Given the description of an element on the screen output the (x, y) to click on. 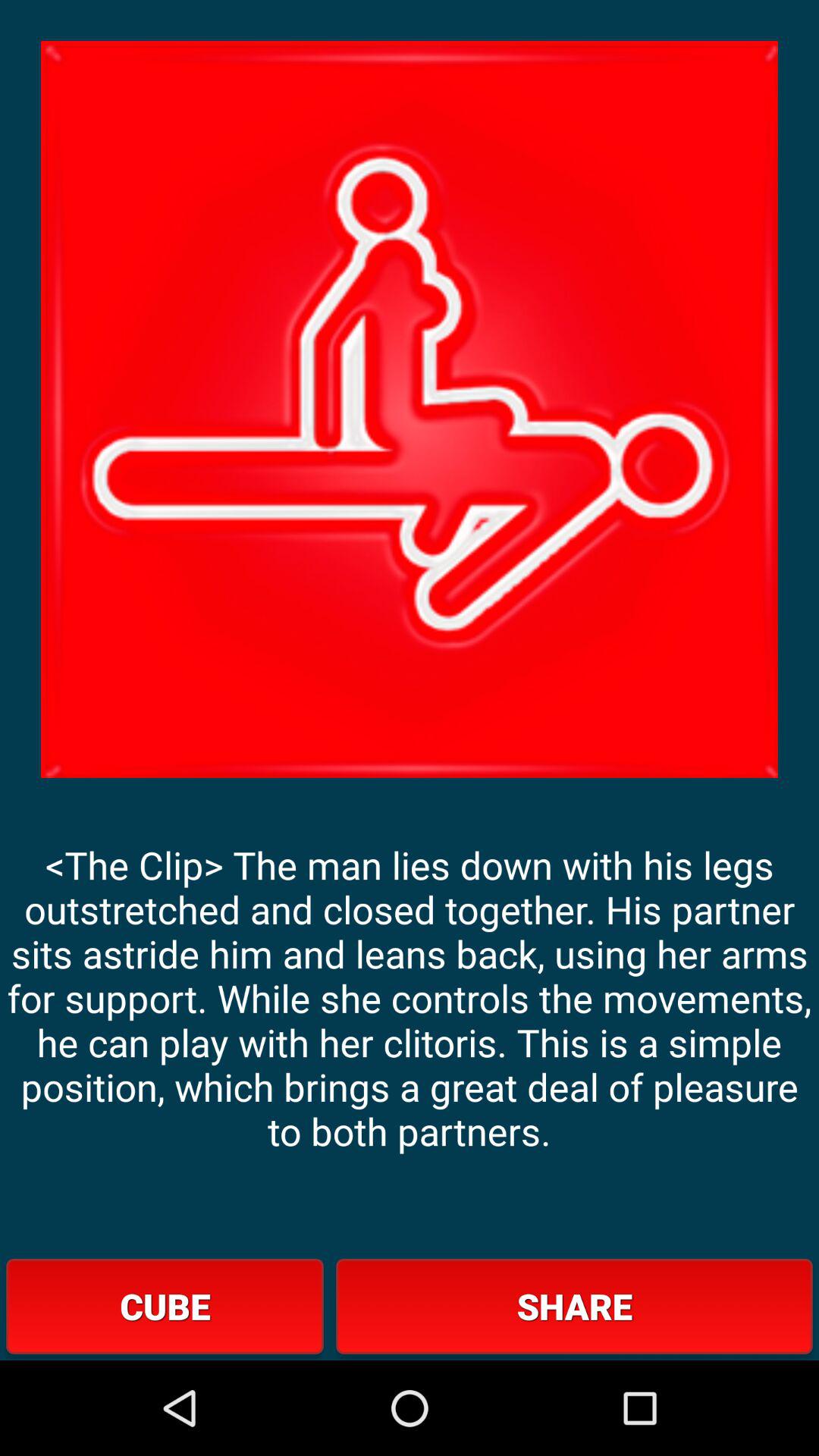
tap cube at the bottom left corner (164, 1306)
